Given the description of an element on the screen output the (x, y) to click on. 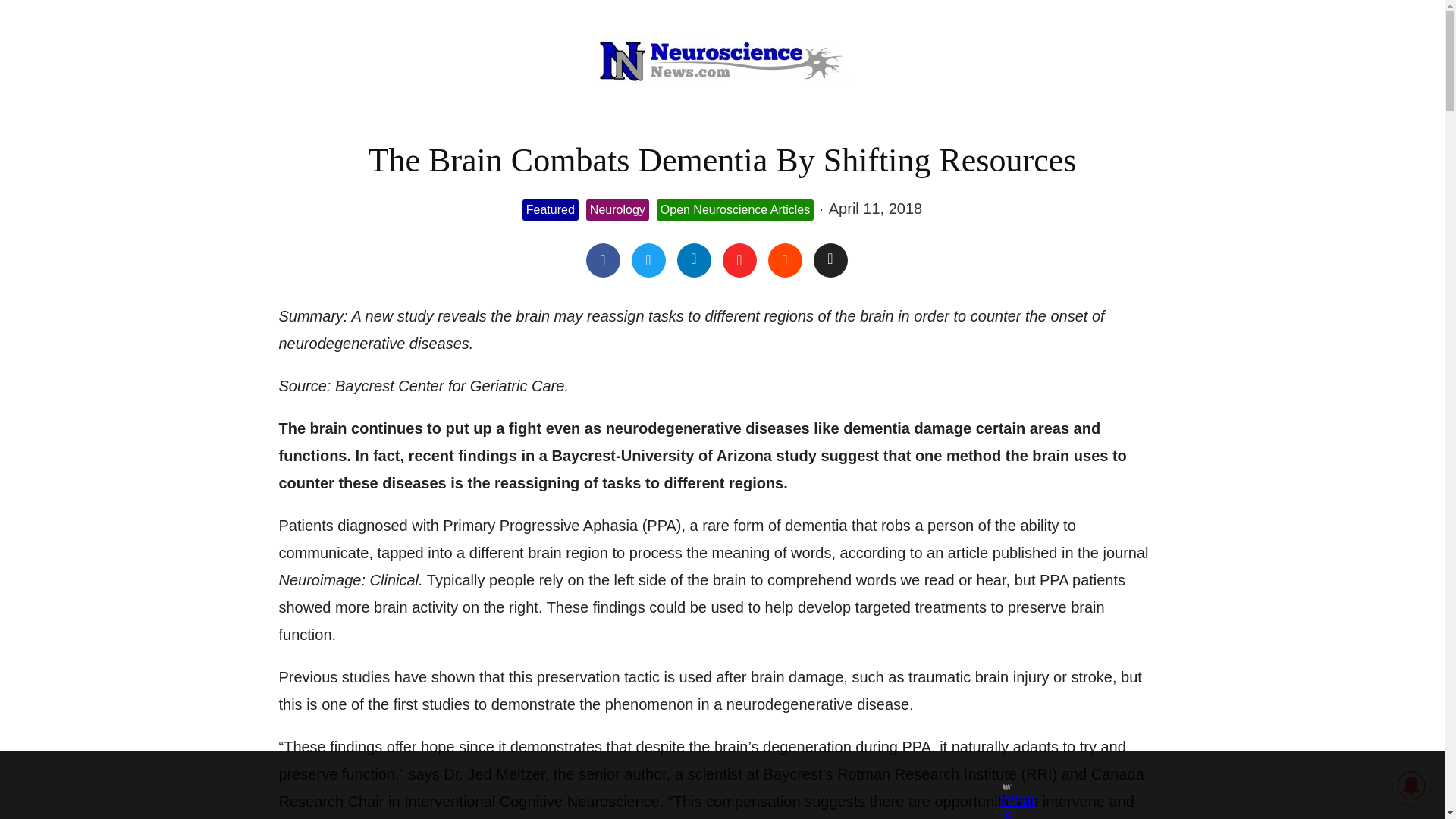
Featured (550, 210)
Open Neuroscience Articles (734, 210)
Neurology (617, 210)
